Given the description of an element on the screen output the (x, y) to click on. 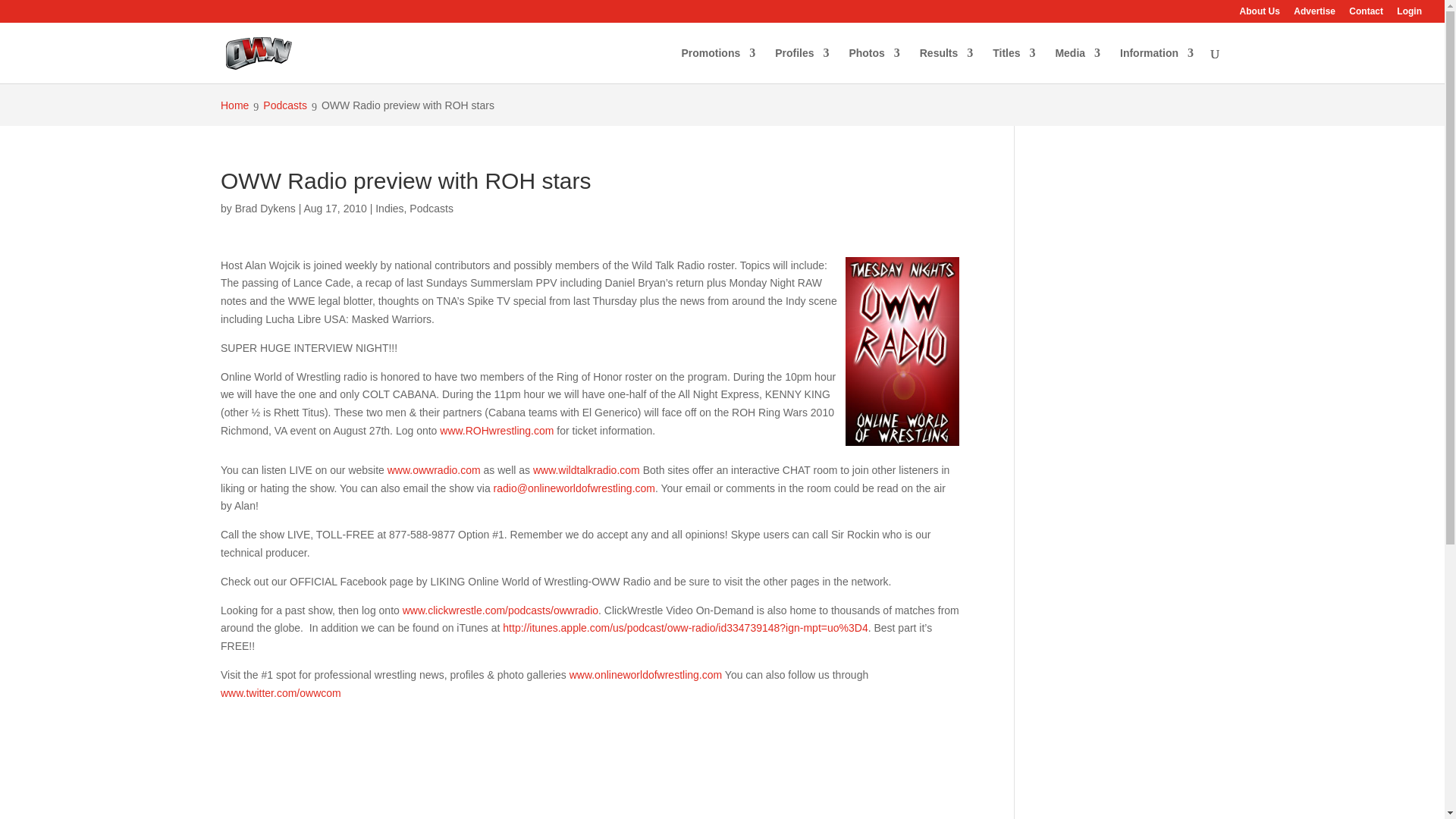
Promotions (718, 65)
About Us (1259, 14)
Contact (1366, 14)
Login (1409, 14)
Advertise (1314, 14)
Posts by Brad Dykens (264, 208)
Profiles (801, 65)
Advertisement (590, 766)
